Given the description of an element on the screen output the (x, y) to click on. 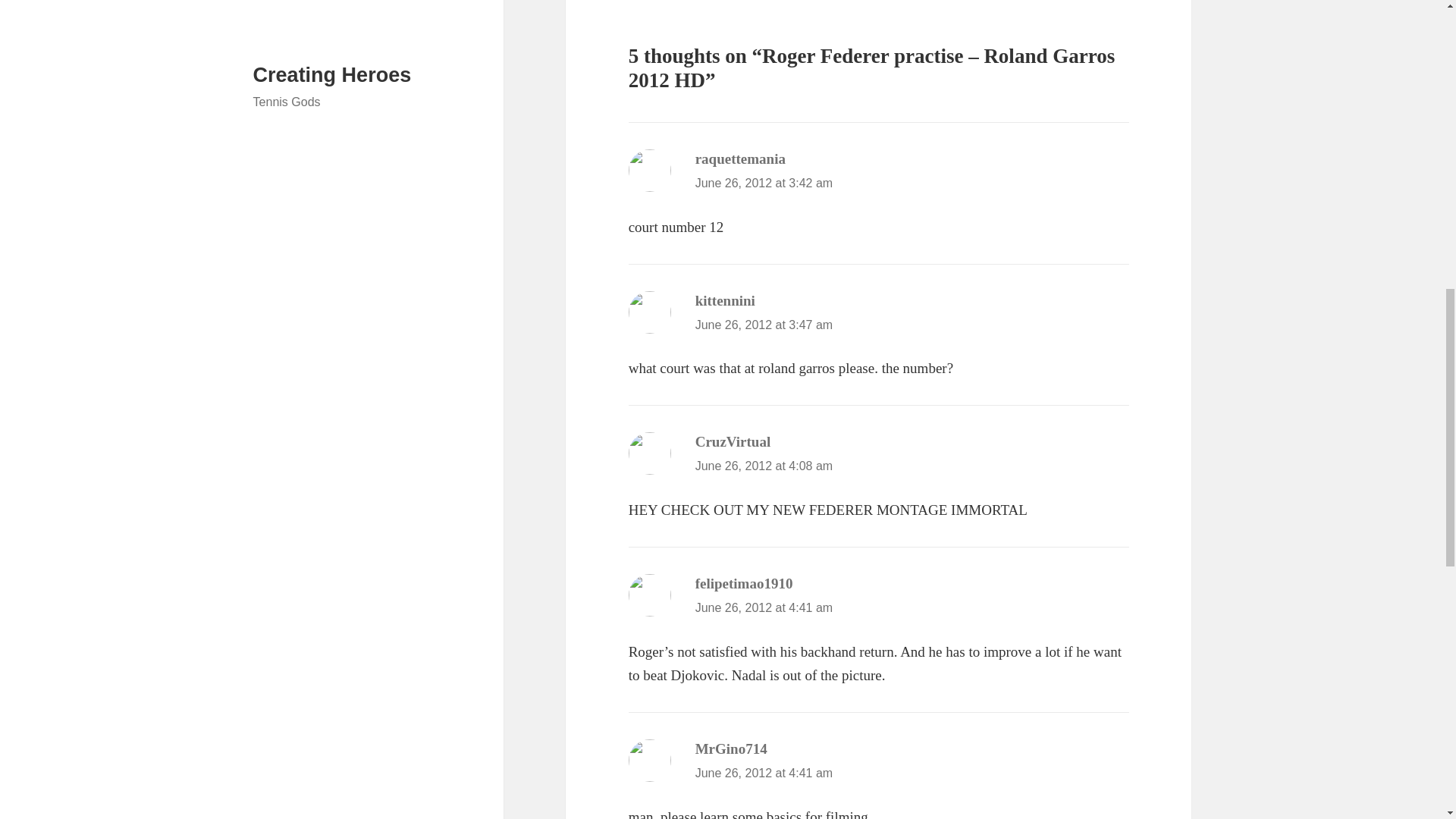
June 26, 2012 at 3:42 am (763, 182)
June 26, 2012 at 3:47 am (763, 324)
June 26, 2012 at 4:41 am (763, 607)
June 26, 2012 at 4:41 am (763, 772)
June 26, 2012 at 4:08 am (763, 465)
